Given the description of an element on the screen output the (x, y) to click on. 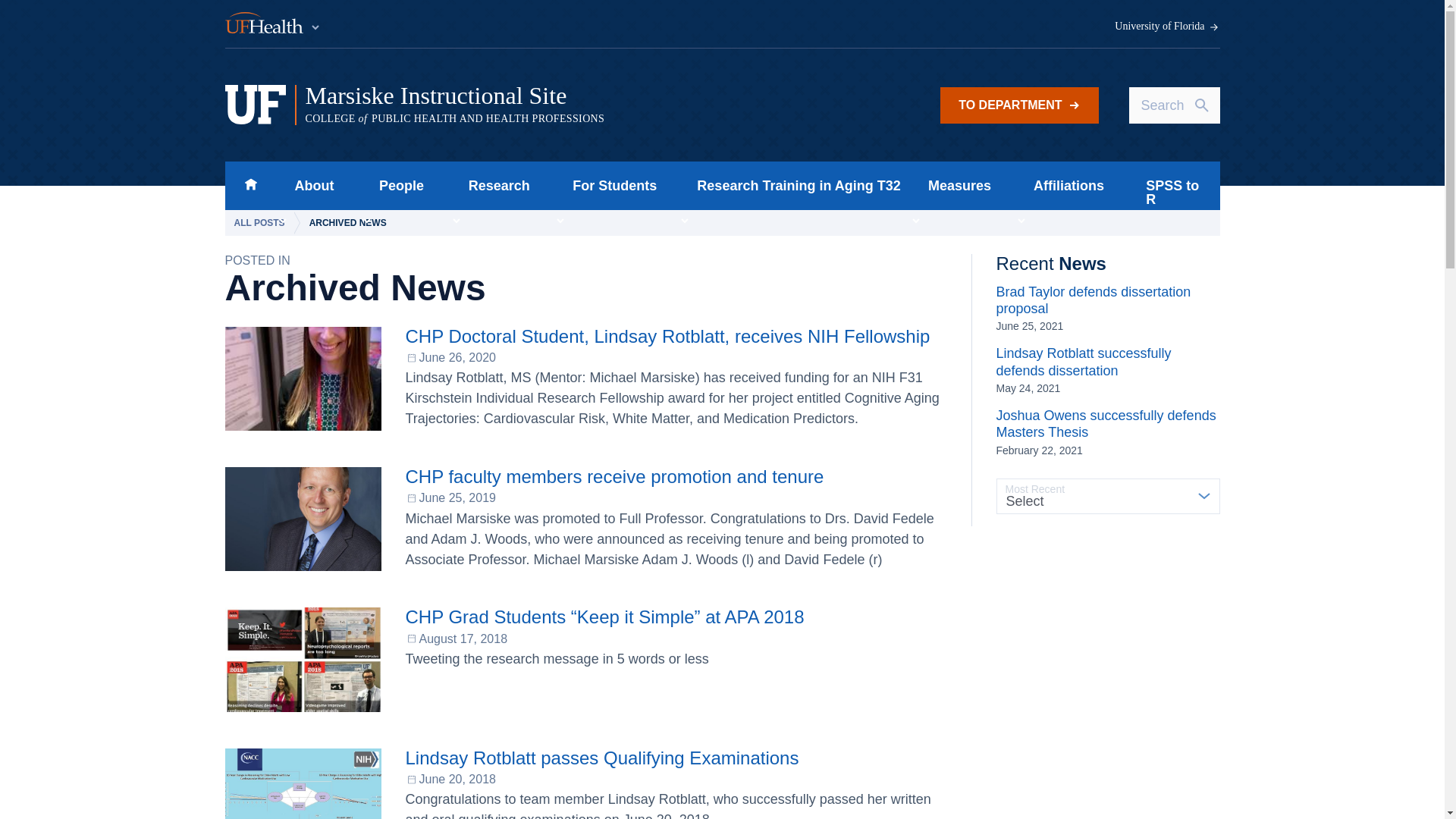
Research (493, 185)
TO DEPARTMENT (1018, 104)
University of Florida (1167, 26)
About (309, 185)
UF Health (272, 24)
Home (250, 185)
